Given the description of an element on the screen output the (x, y) to click on. 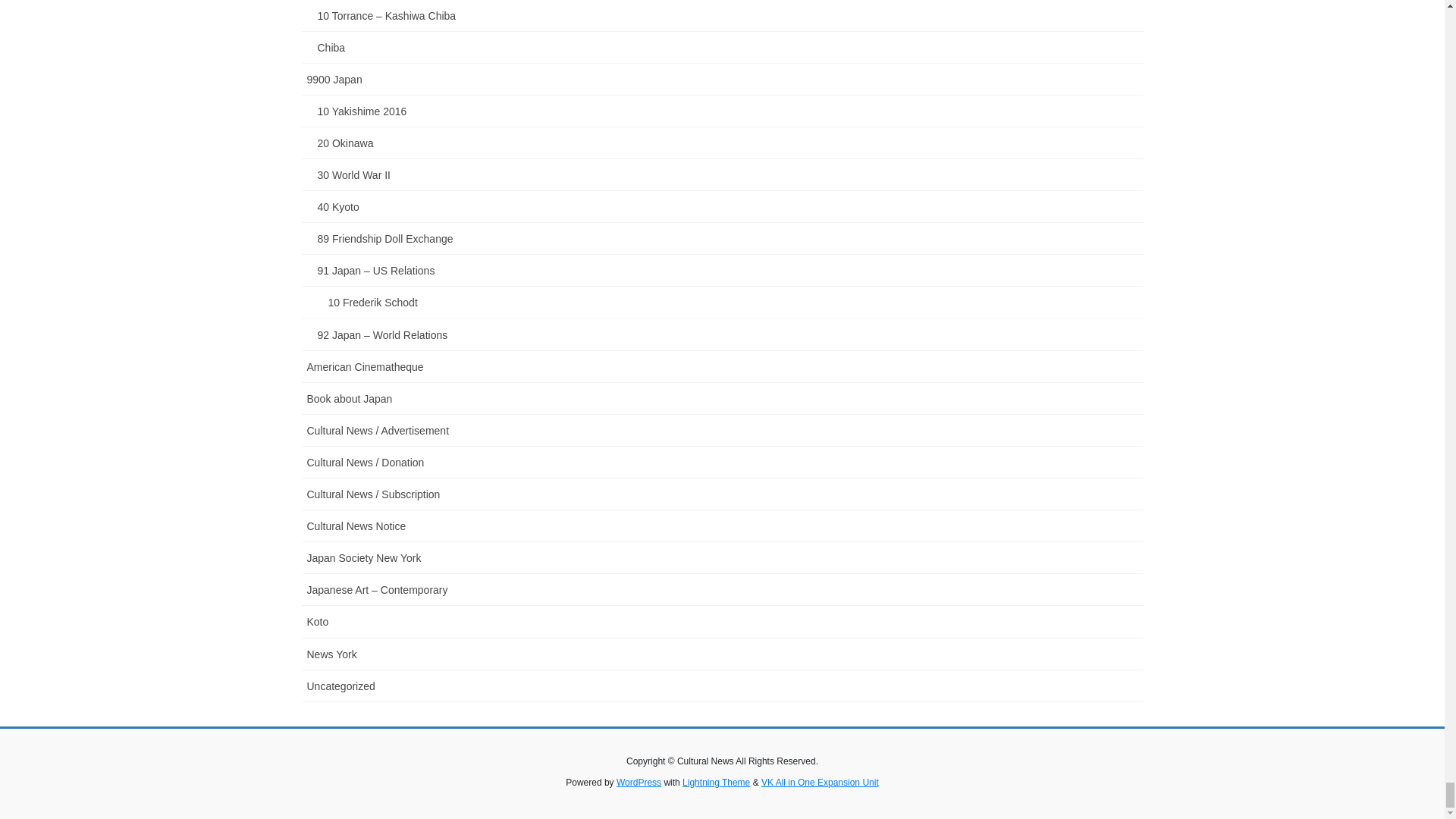
Free WordPress Theme Lightning (715, 782)
